Given the description of an element on the screen output the (x, y) to click on. 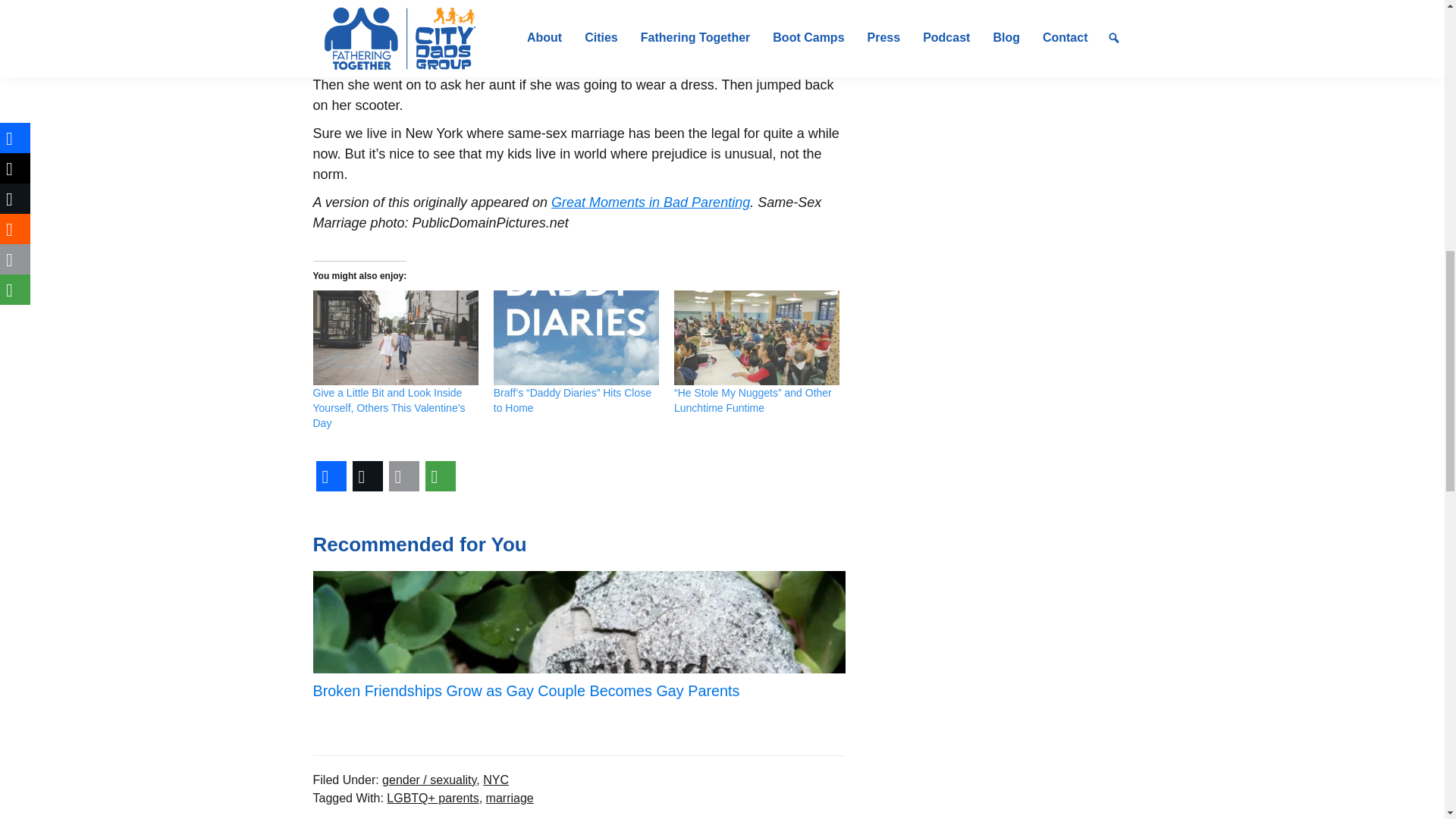
Broken Friendships Grow as Gay Couple Becomes Gay Parents (578, 635)
More Options (440, 475)
Facebook (331, 475)
NYC (495, 779)
marriage (510, 797)
Broken Friendships Grow as Gay Couple Becomes Gay Parents (578, 635)
Email This (403, 475)
Great Moments in Bad Parenting (650, 201)
marriage equality (689, 15)
